Given the description of an element on the screen output the (x, y) to click on. 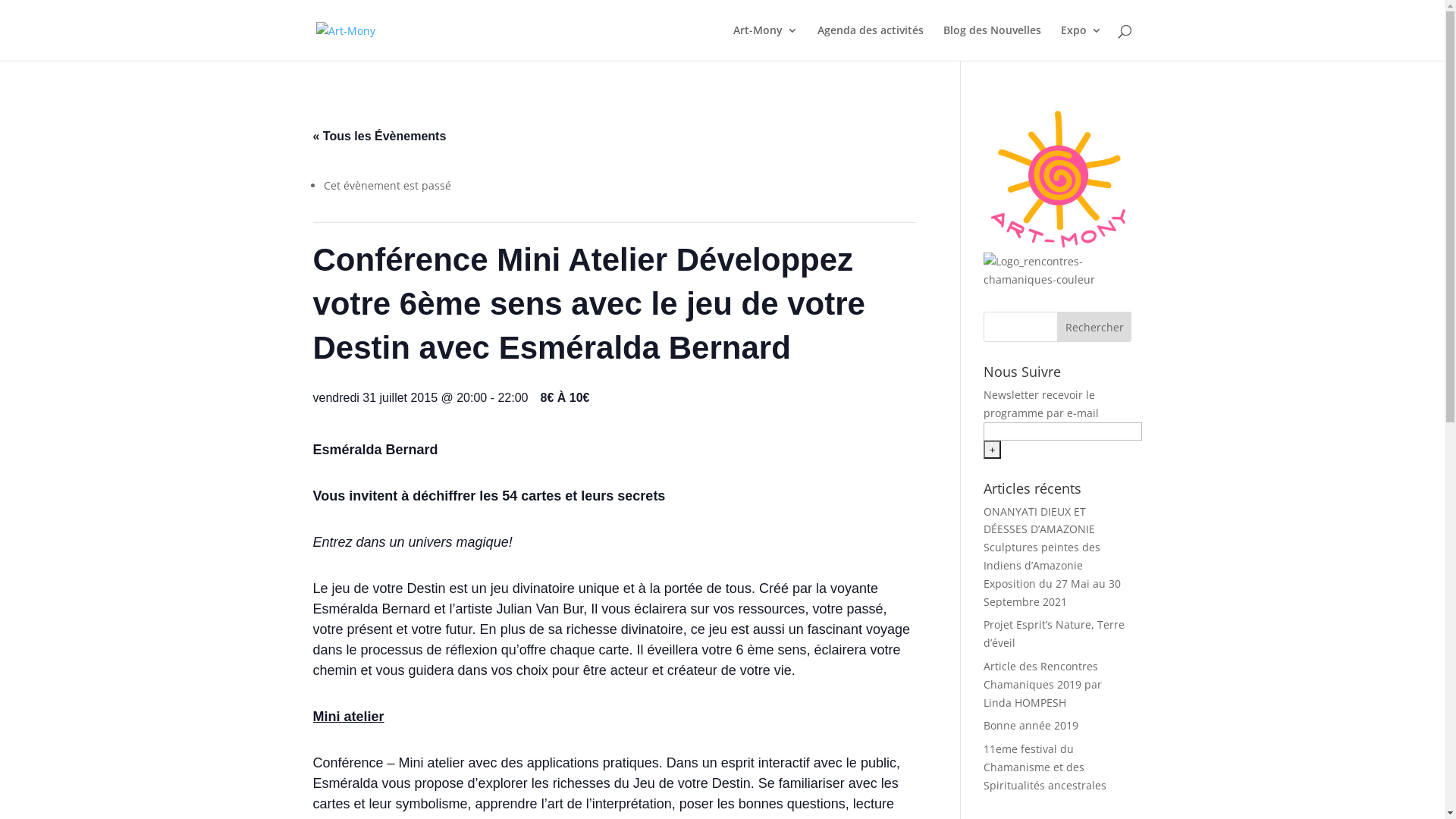
Newsletter Element type: text (1010, 394)
Rechercher Element type: text (1094, 326)
Art-Mony Element type: text (764, 42)
Logo_rencontres-chamaniques-couleur Element type: hover (1057, 270)
Blog des Nouvelles Element type: text (992, 42)
Expo Element type: text (1080, 42)
Article des Rencontres Chamaniques 2019 par Linda HOMPESH Element type: text (1042, 683)
+ Element type: text (992, 449)
